Given the description of an element on the screen output the (x, y) to click on. 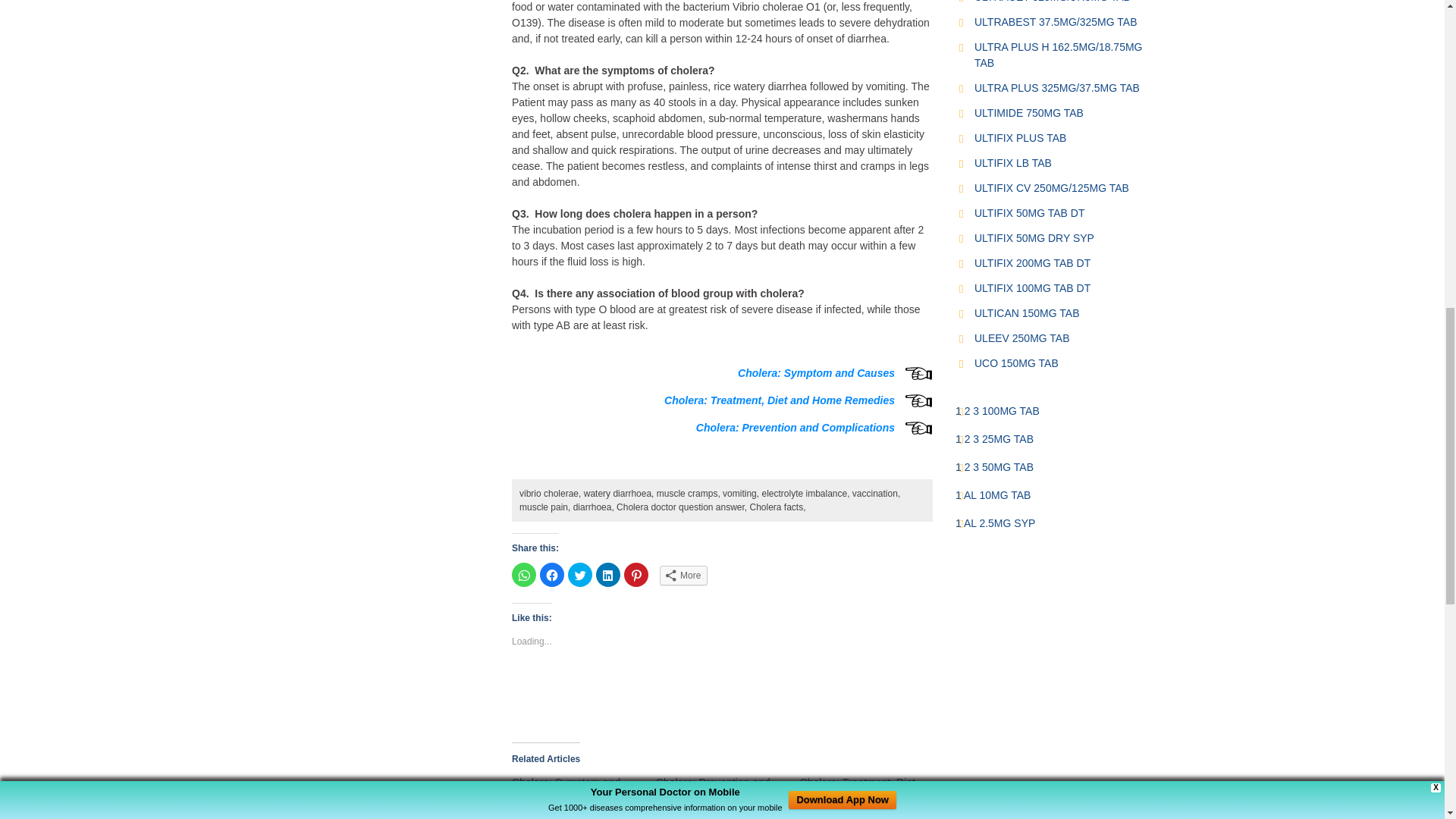
Cholera: Treatment, Diet and Home Remedies (779, 399)
Click to share on Twitter (579, 574)
Click to share on LinkedIn (607, 574)
Cholera: Prevention and Complications (713, 789)
Cholera: Symptom and Causes (584, 796)
Click to share on Facebook (552, 574)
Click to share on Pinterest (635, 574)
Cholera: Symptom and Causes (566, 789)
More (683, 575)
Cholera: Symptom and Causes (816, 372)
